Given the description of an element on the screen output the (x, y) to click on. 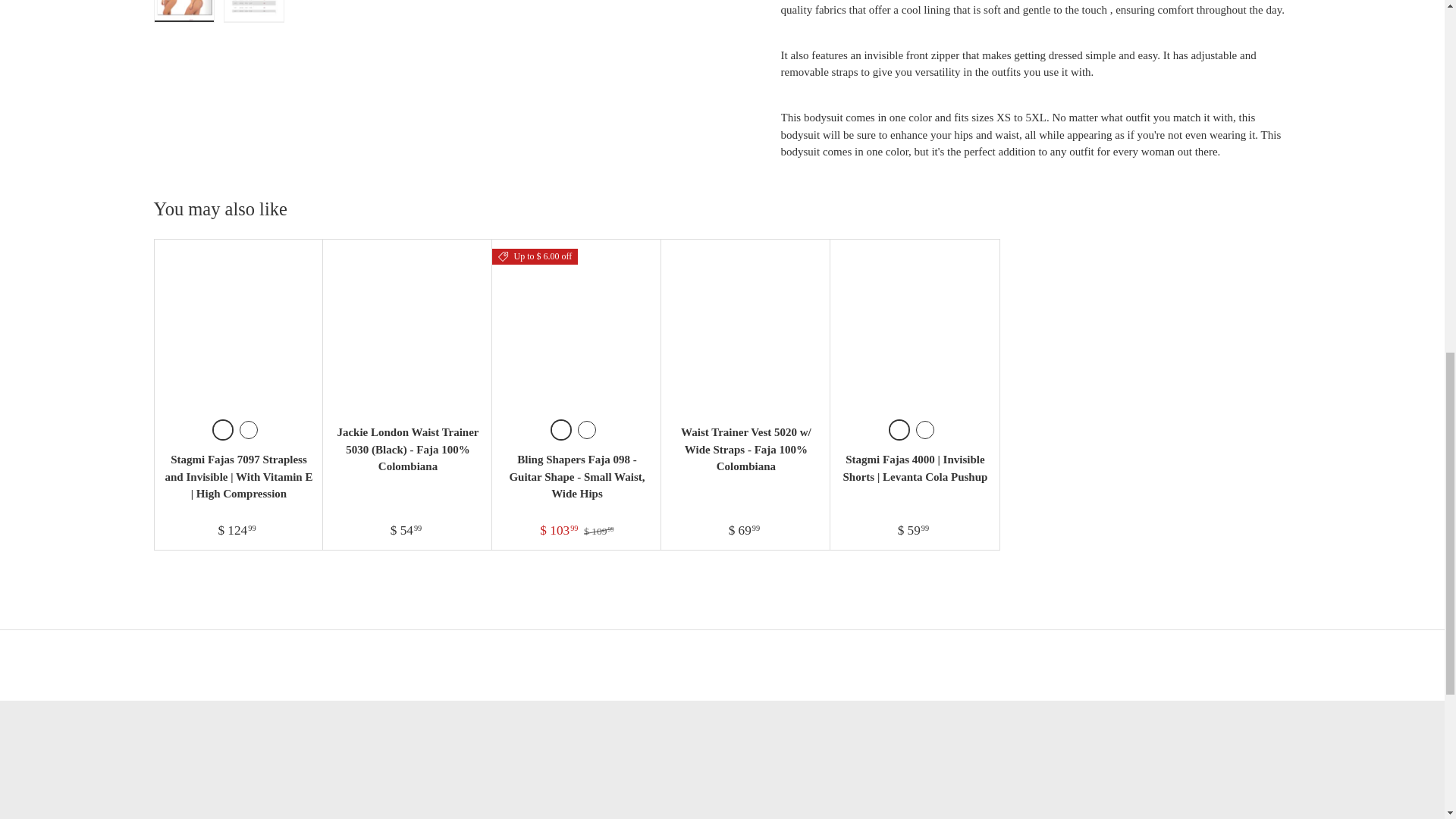
Black (222, 429)
Cocoa (248, 429)
Black (560, 429)
Cocoa (586, 429)
Black (924, 429)
